Given the description of an element on the screen output the (x, y) to click on. 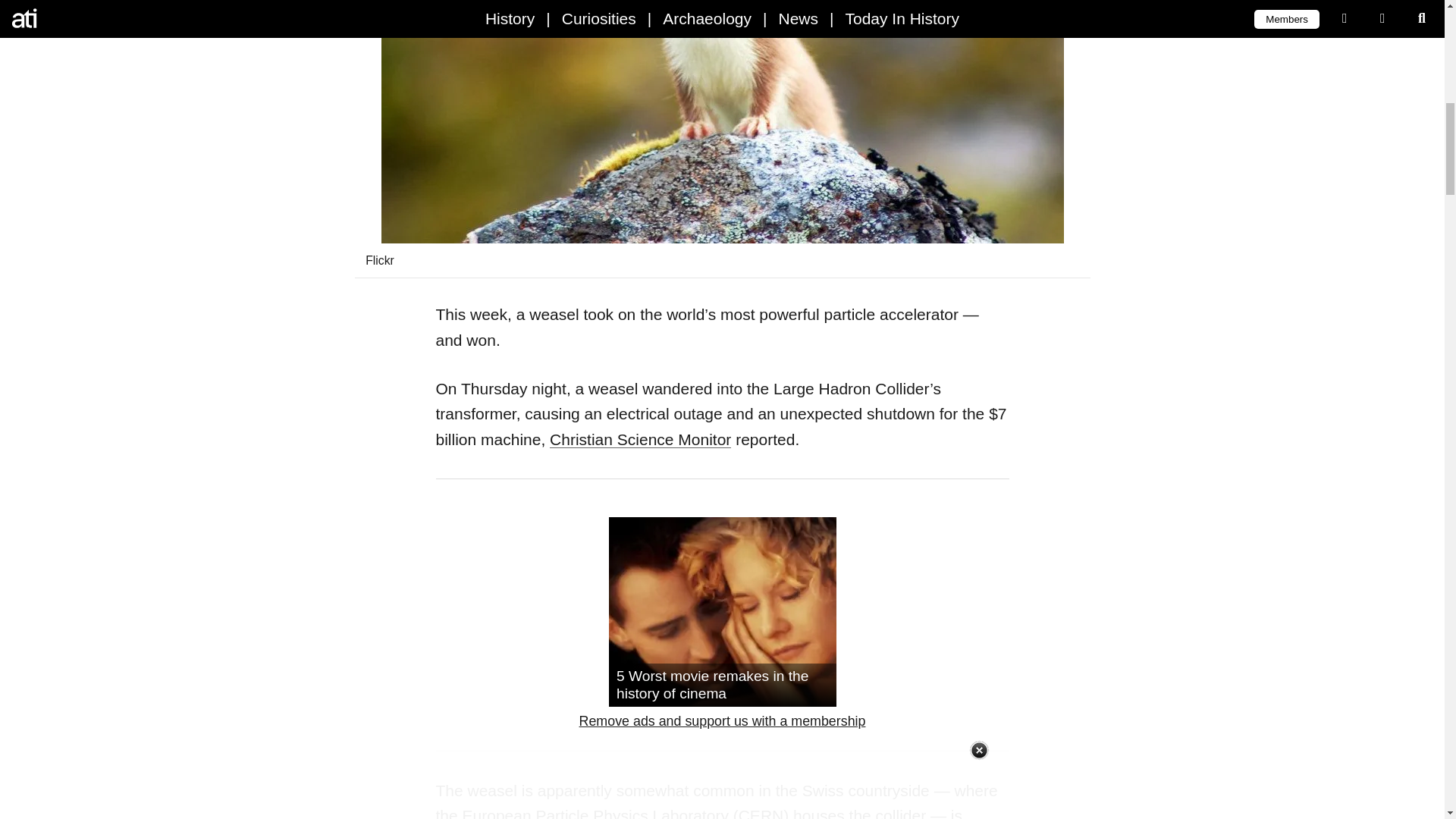
Christian Science Monitor (640, 438)
Remove ads and support us with a membership (722, 721)
